Given the description of an element on the screen output the (x, y) to click on. 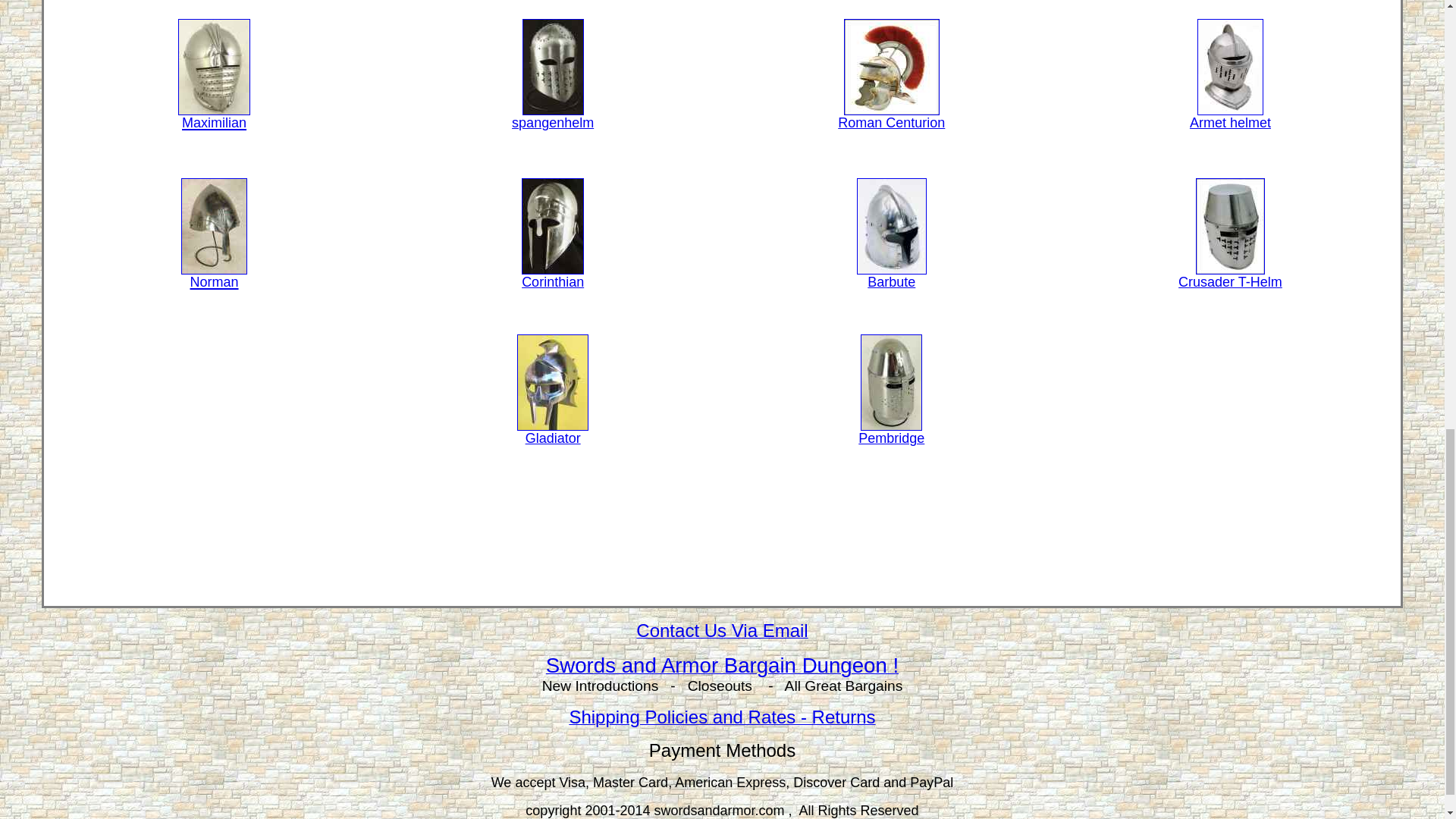
Crusader T-Helm (1229, 276)
Norman (213, 273)
Swords and Armor Bargain Dungeon ! (722, 667)
Corinthian (552, 276)
Gladiator (552, 432)
Pembridge (891, 432)
Contact Us Via Email (722, 631)
Barbute (891, 276)
Armet helmet (1230, 116)
Maximilian (213, 114)
Shipping Policies and Rates - Returns (722, 718)
spangenhelm (553, 116)
Roman Centurion (891, 116)
